Given the description of an element on the screen output the (x, y) to click on. 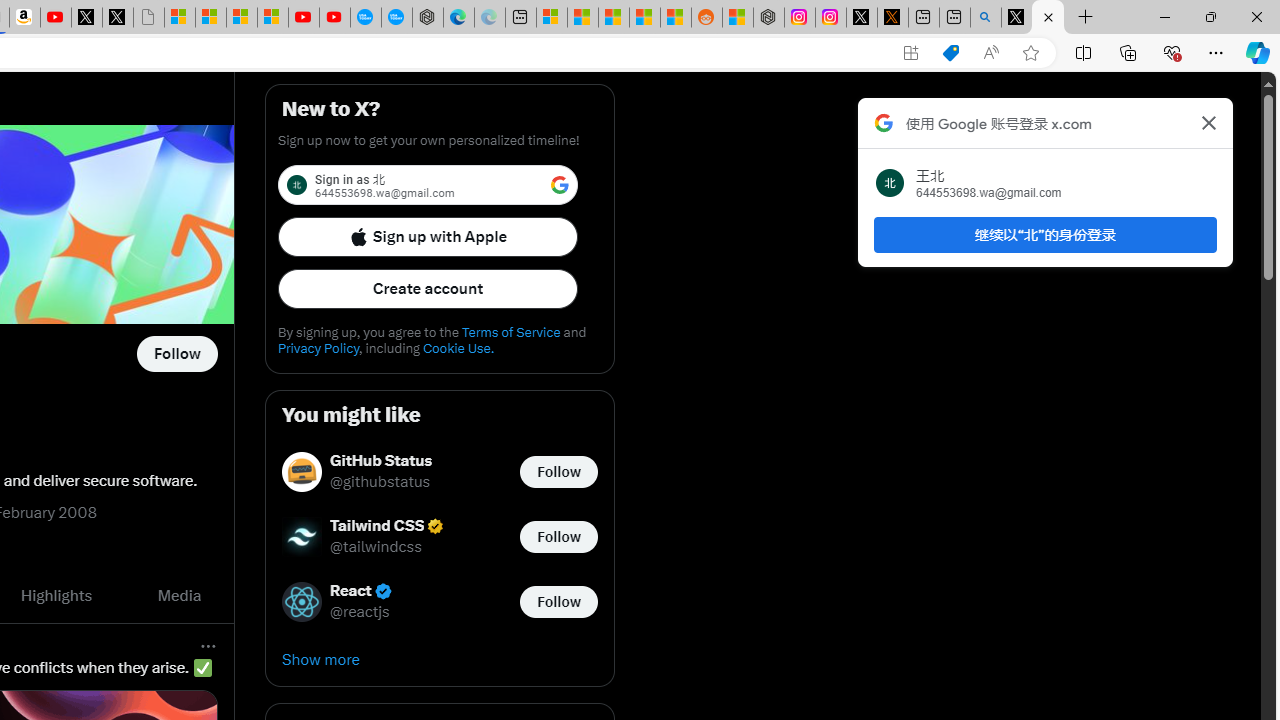
The most popular Google 'how to' searches (396, 17)
Follow @githubstatus (558, 471)
@githubstatus (380, 482)
@reactjs (360, 611)
Create account (427, 288)
App available. Install X (910, 53)
Show more (440, 660)
github - Search (985, 17)
Gloom - YouTube (303, 17)
